Given the description of an element on the screen output the (x, y) to click on. 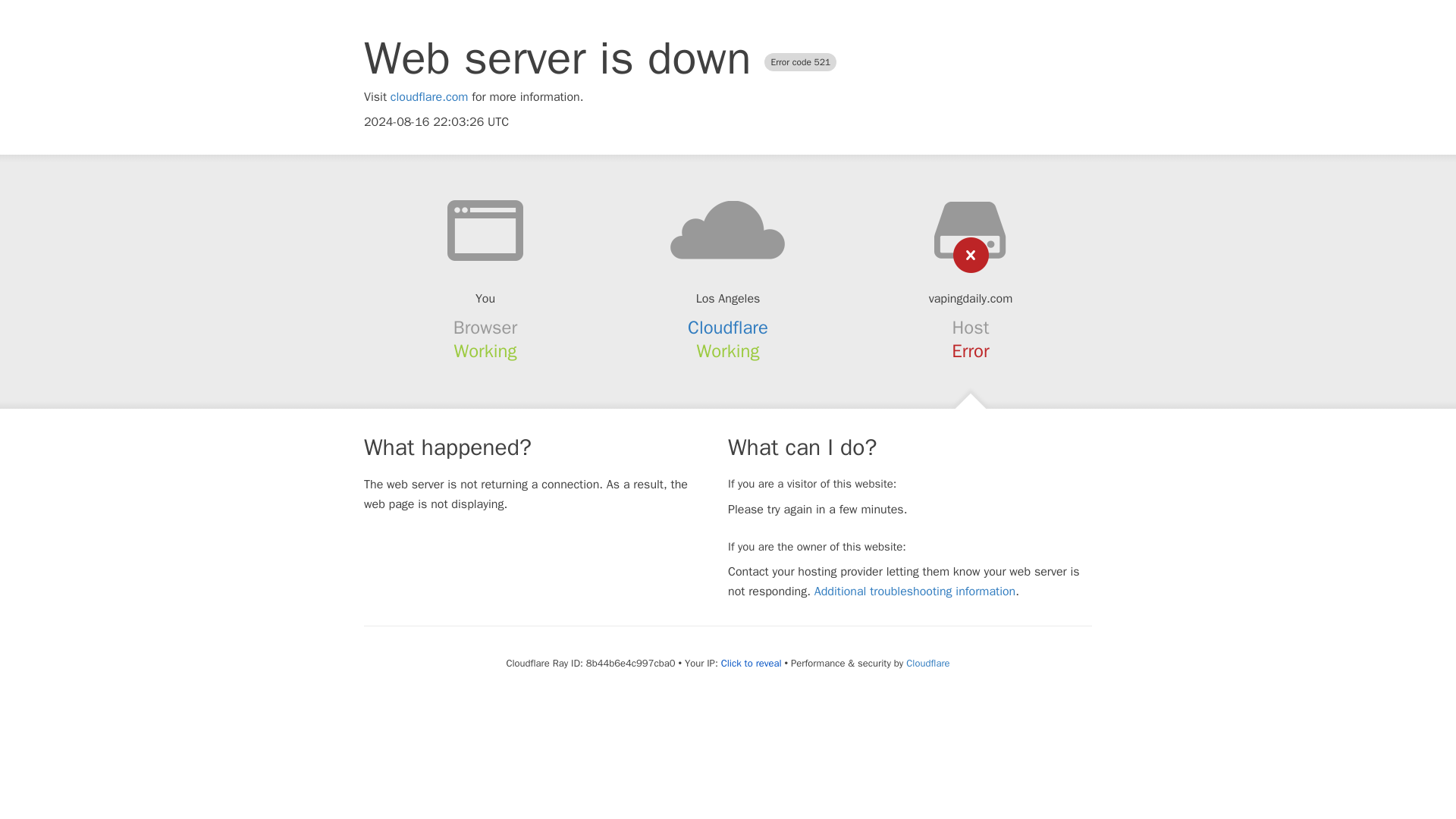
Additional troubleshooting information (913, 590)
Cloudflare (727, 327)
cloudflare.com (429, 96)
Click to reveal (750, 663)
Cloudflare (927, 662)
